Given the description of an element on the screen output the (x, y) to click on. 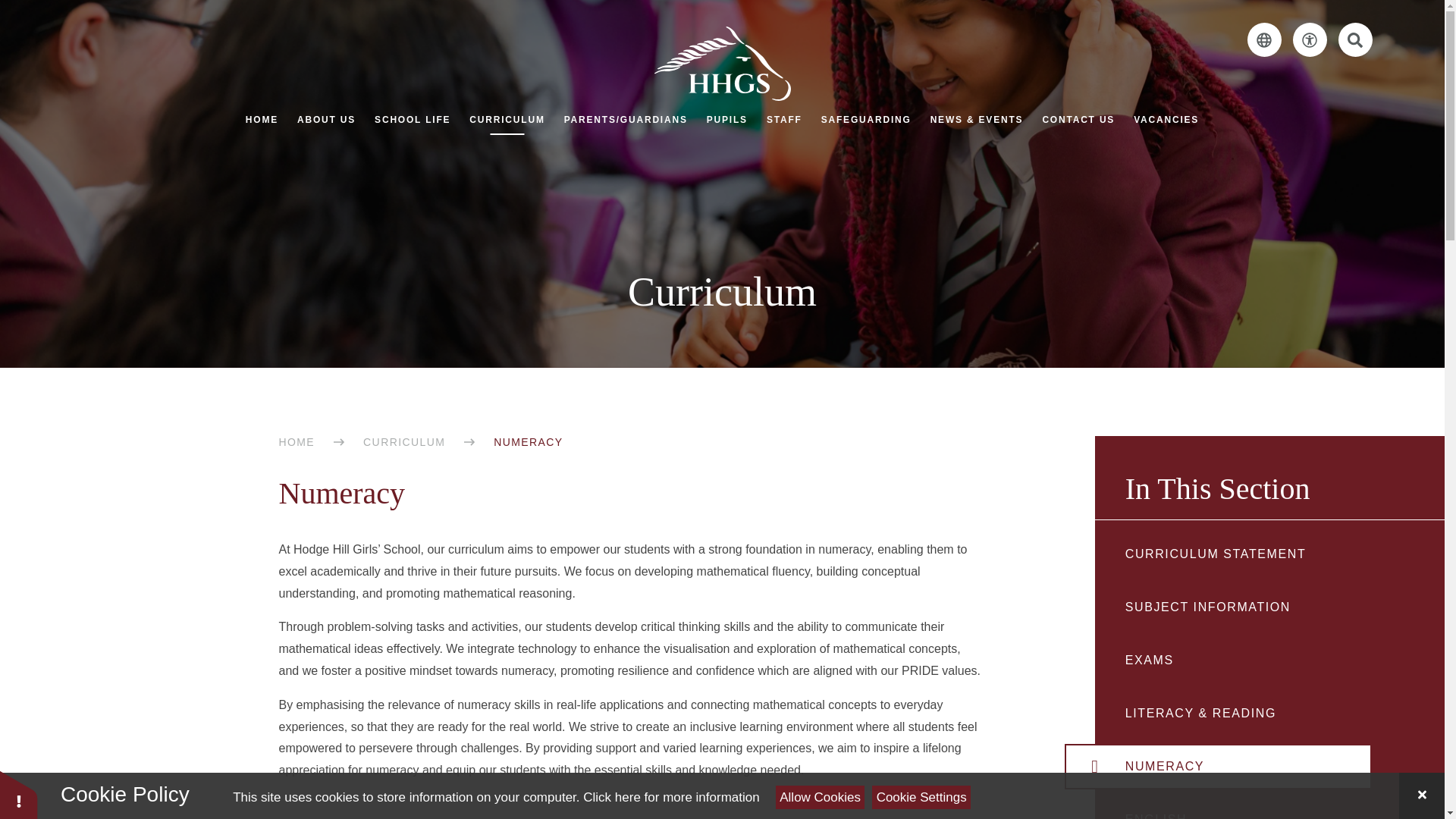
Allow Cookies (820, 797)
Translate (1264, 39)
ABOUT US (326, 119)
See cookie policy (670, 797)
Accessibility (1309, 39)
Cookie Settings (921, 797)
HOME (262, 119)
SCHOOL LIFE (411, 119)
